Given the description of an element on the screen output the (x, y) to click on. 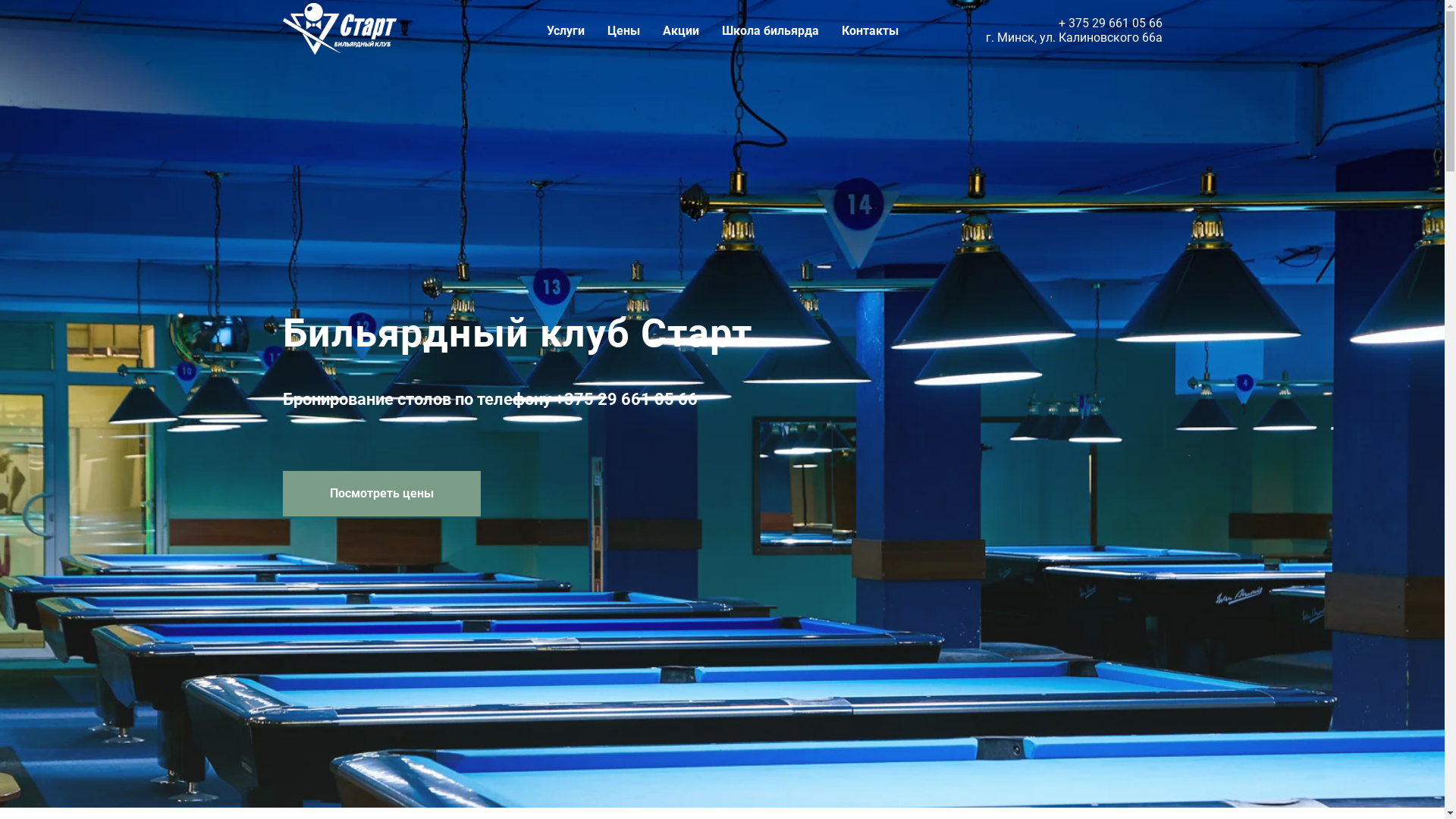
+375 29 661 05 66 Element type: text (626, 398)
